Given the description of an element on the screen output the (x, y) to click on. 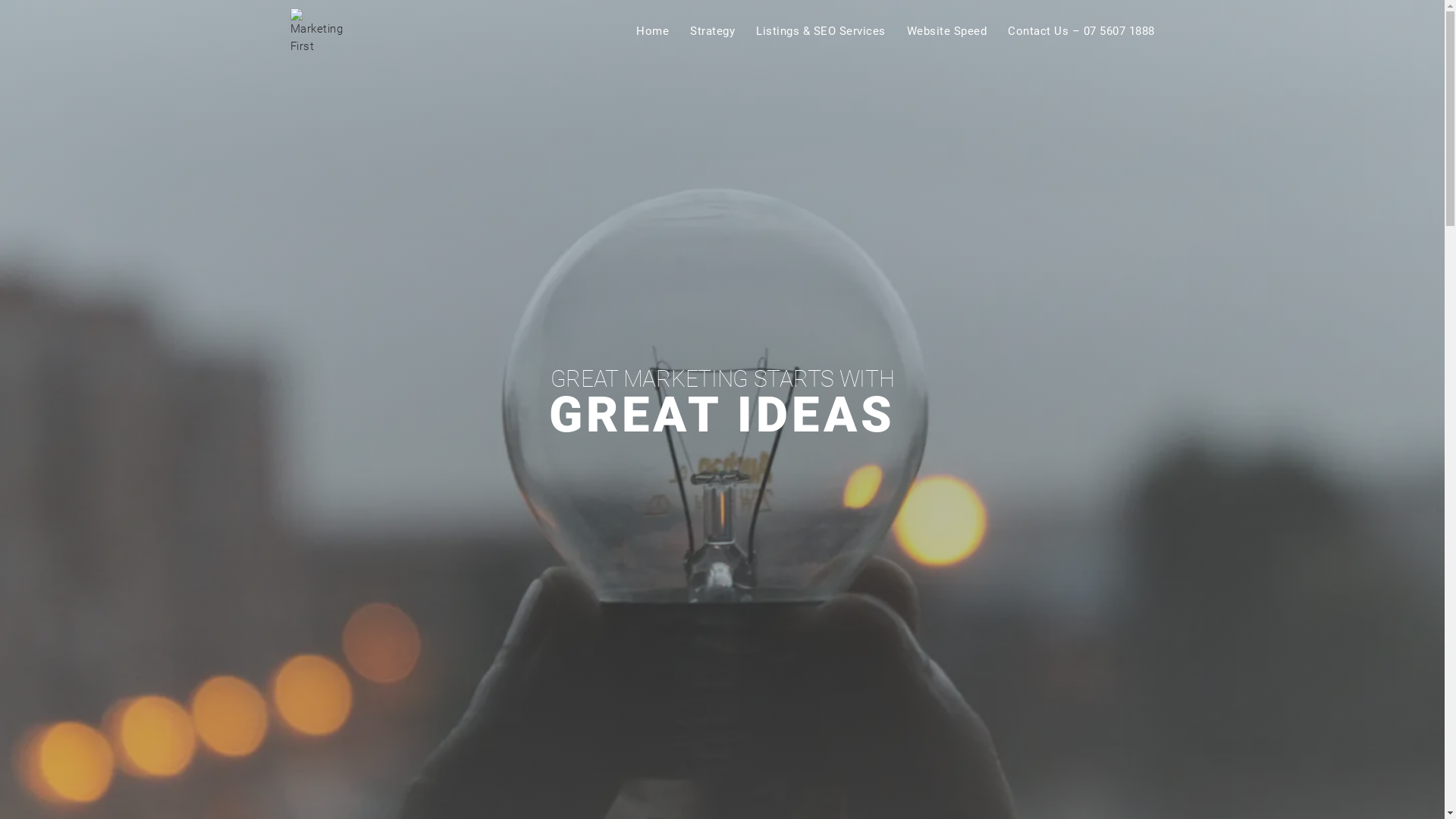
Home Element type: text (652, 31)
Listings & SEO Services Element type: text (820, 31)
Strategy Element type: text (712, 31)
Website Speed Element type: text (946, 31)
